Given the description of an element on the screen output the (x, y) to click on. 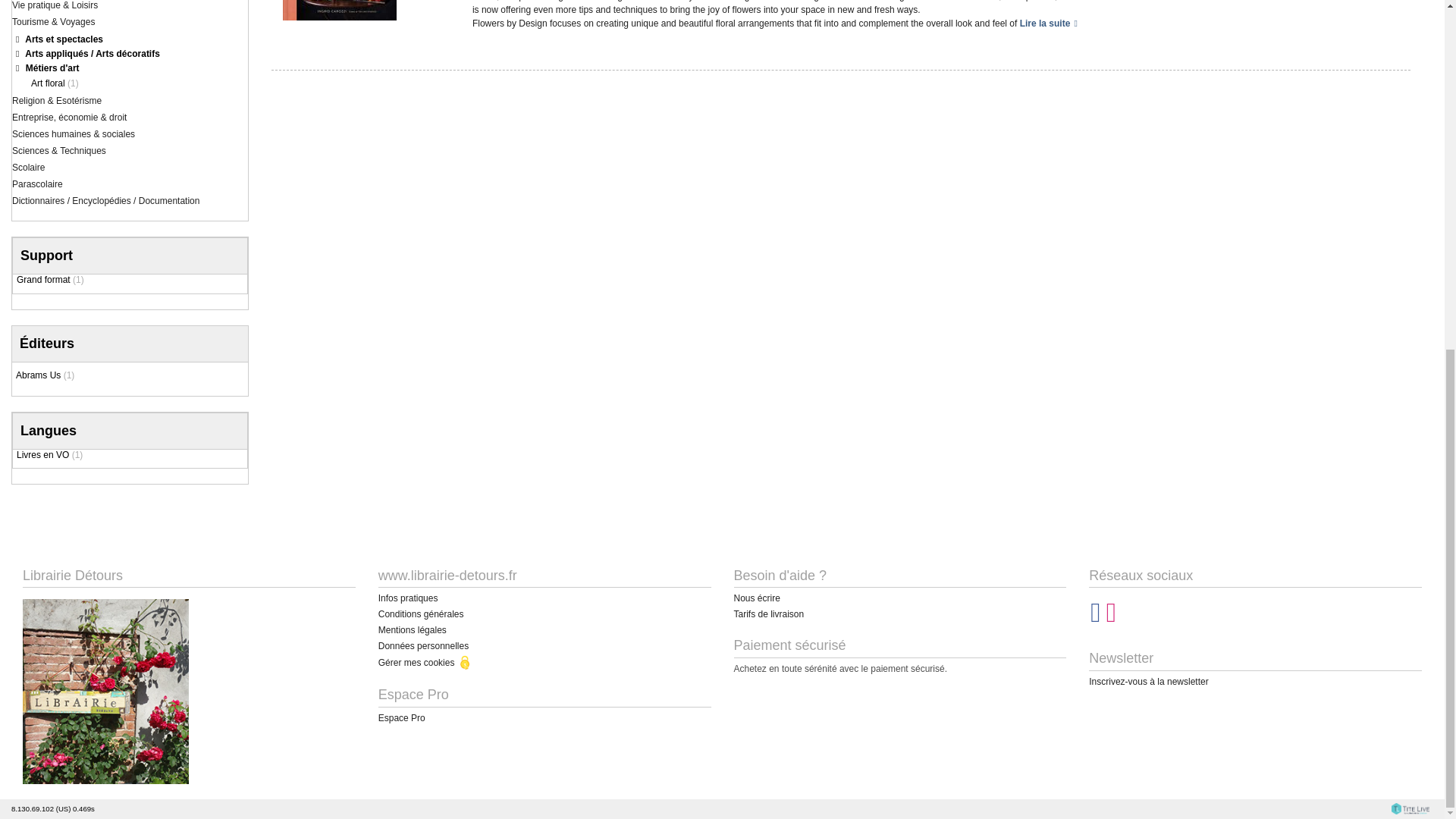
Facebook (1095, 618)
Instagram (1111, 618)
